Given the description of an element on the screen output the (x, y) to click on. 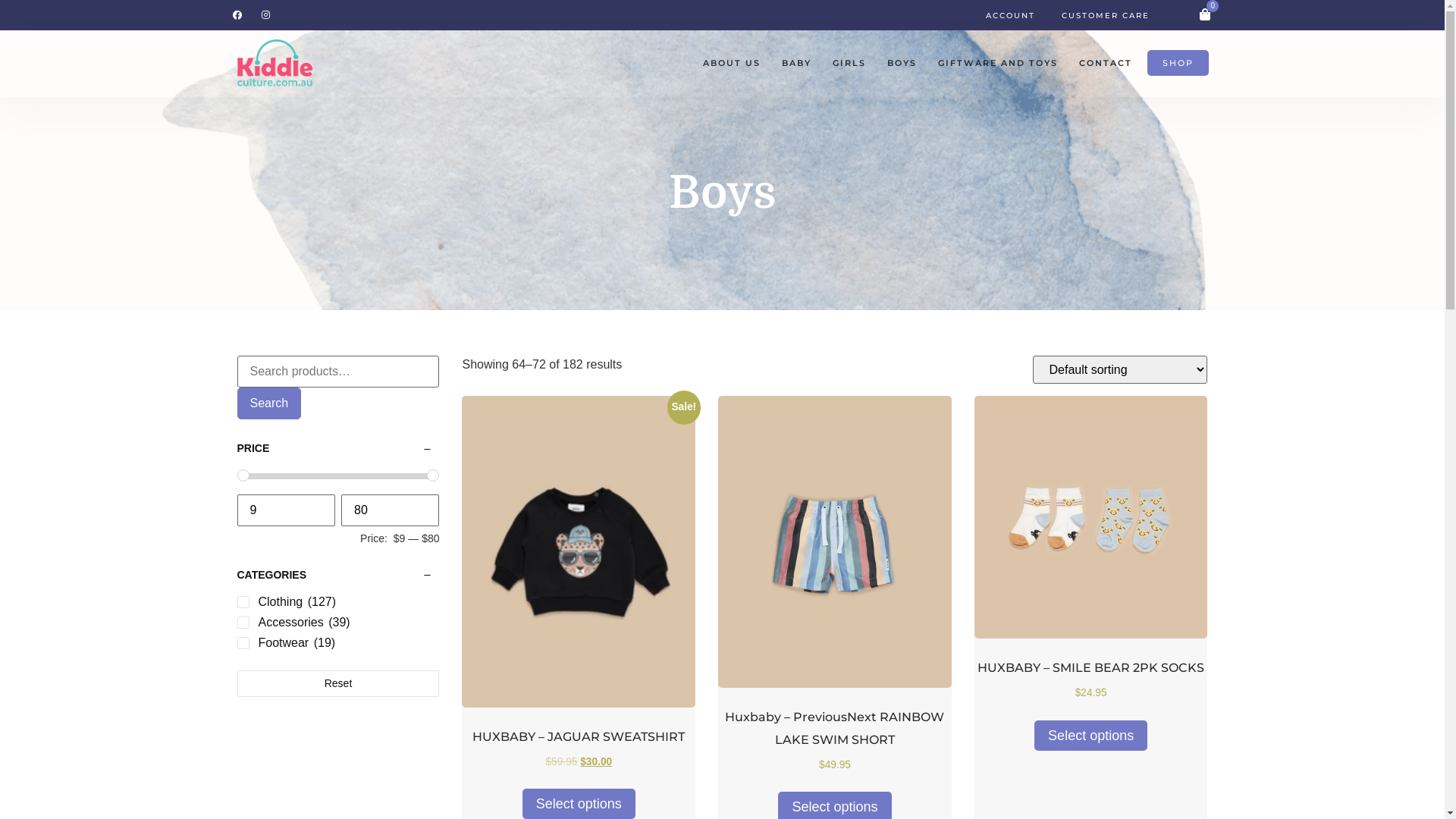
Reset Element type: text (337, 683)
CONTACT Element type: text (1104, 62)
GIRLS Element type: text (849, 62)
GIFTWARE AND TOYS Element type: text (997, 62)
ACCOUNT Element type: text (1010, 14)
Search Element type: text (268, 403)
BOYS Element type: text (901, 62)
0 Element type: text (1204, 14)
BABY Element type: text (795, 62)
SHOP Element type: text (1177, 62)
Select options Element type: text (1090, 735)
ABOUT US Element type: text (730, 62)
CUSTOMER CARE Element type: text (1105, 14)
